Given the description of an element on the screen output the (x, y) to click on. 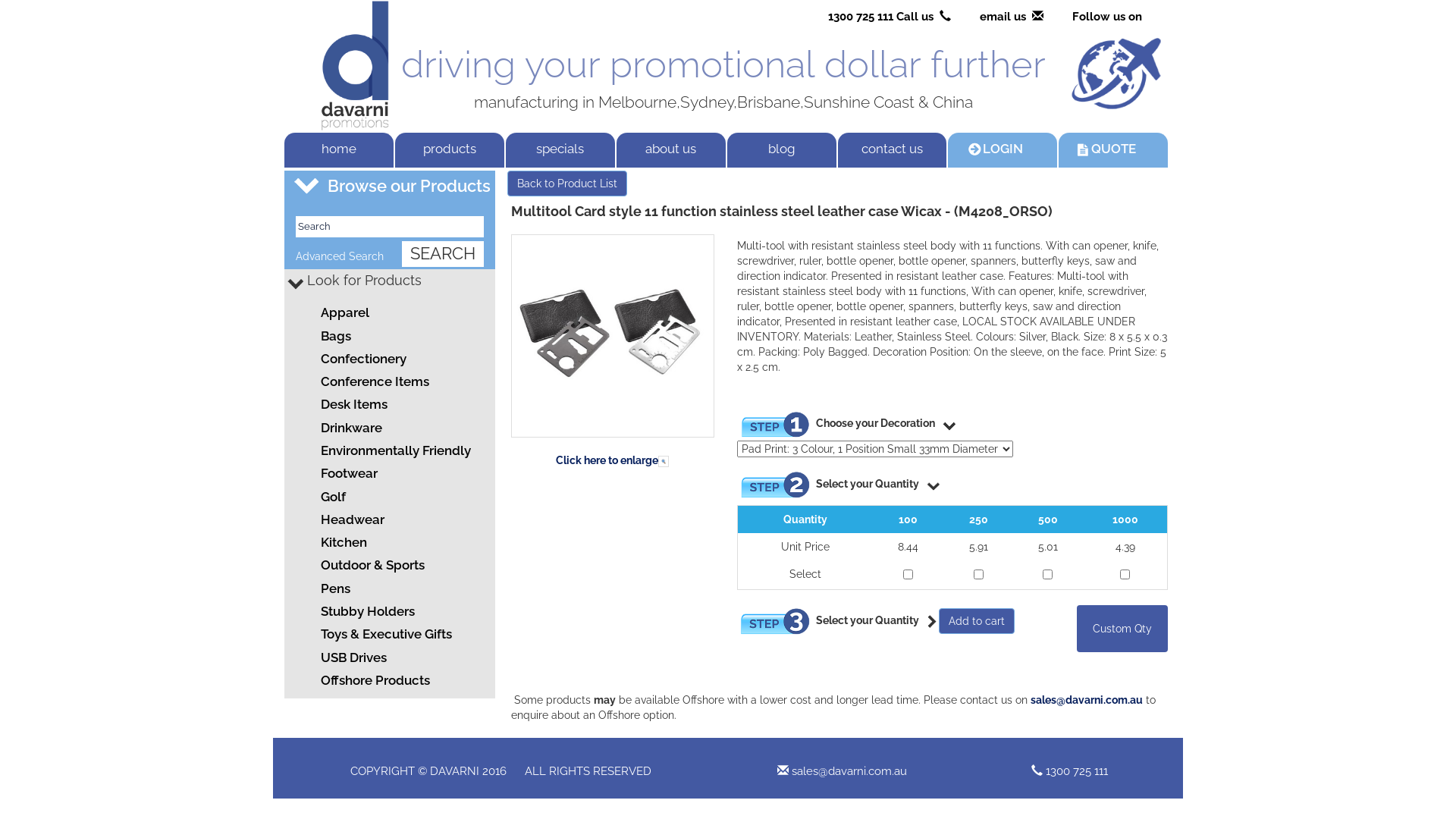
1300 725 111 Element type: text (1075, 771)
sales@davarni.com.au Element type: text (848, 771)
specials Element type: text (560, 149)
Add to cart Element type: text (976, 620)
Custom Qty Element type: text (1121, 628)
contact us Element type: text (892, 149)
QUOTE Element type: text (1112, 149)
home Element type: text (338, 149)
Search Element type: text (389, 227)
LOGIN Element type: text (1002, 149)
Click here to enlarge Element type: text (613, 358)
Advanced Search Element type: text (339, 256)
Search Element type: text (442, 253)
email us   Element type: text (1005, 16)
Back to Product List Element type: text (566, 183)
sales@davarni.com.au Element type: text (1085, 699)
products Element type: text (449, 149)
blog Element type: text (781, 149)
about us Element type: text (670, 149)
